Given the description of an element on the screen output the (x, y) to click on. 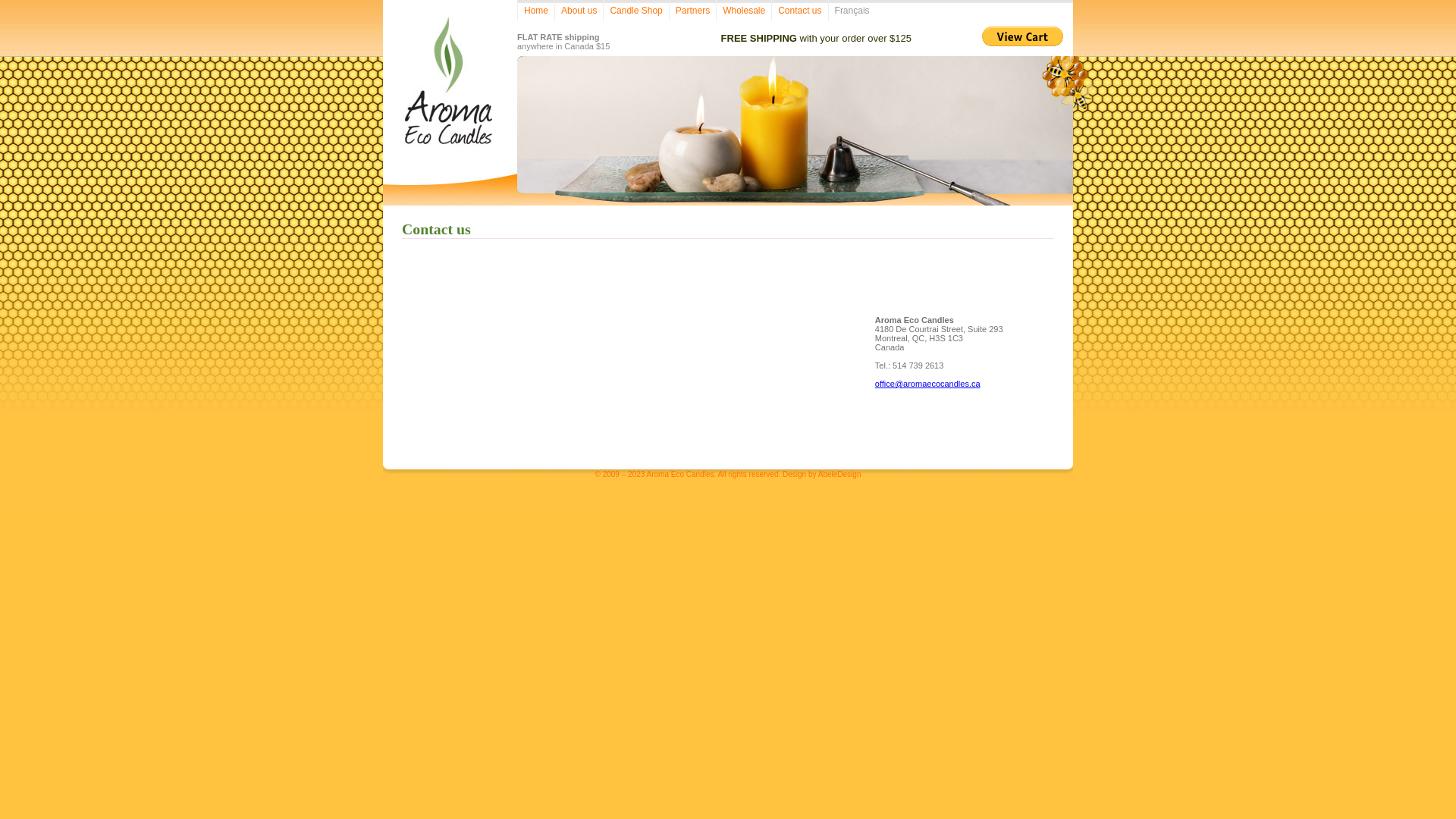
Home Element type: text (535, 10)
About us Element type: text (578, 10)
Wholesale Element type: text (743, 10)
Partners Element type: text (691, 10)
AbeleDesign Element type: text (839, 474)
office@aromaecocandles.ca Element type: text (927, 383)
Candle Shop Element type: text (635, 10)
Contact us Element type: text (799, 10)
